Given the description of an element on the screen output the (x, y) to click on. 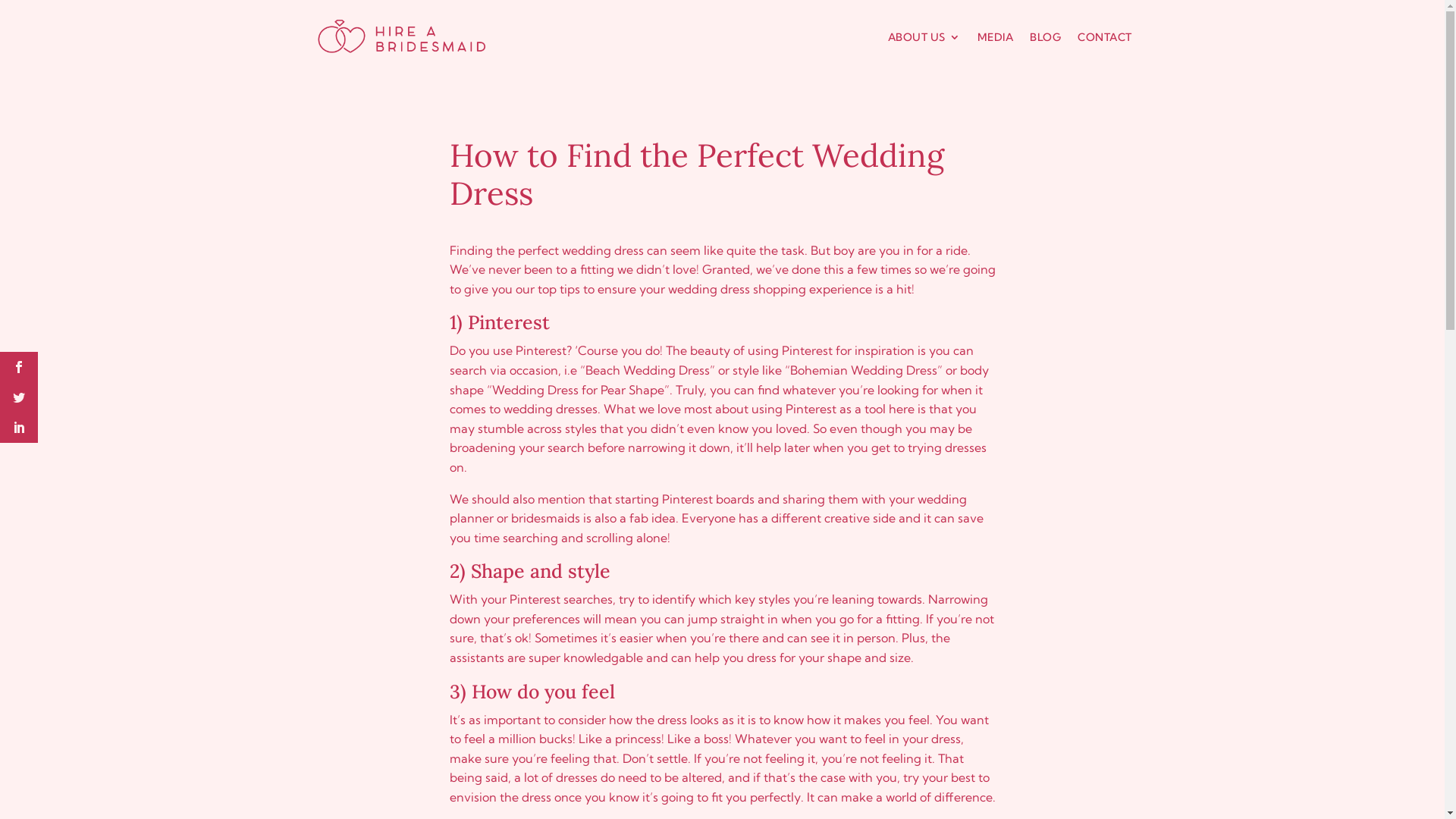
CONTACT Element type: text (1104, 37)
BLOG Element type: text (1044, 37)
MEDIA Element type: text (994, 37)
ABOUT US Element type: text (923, 37)
